Given the description of an element on the screen output the (x, y) to click on. 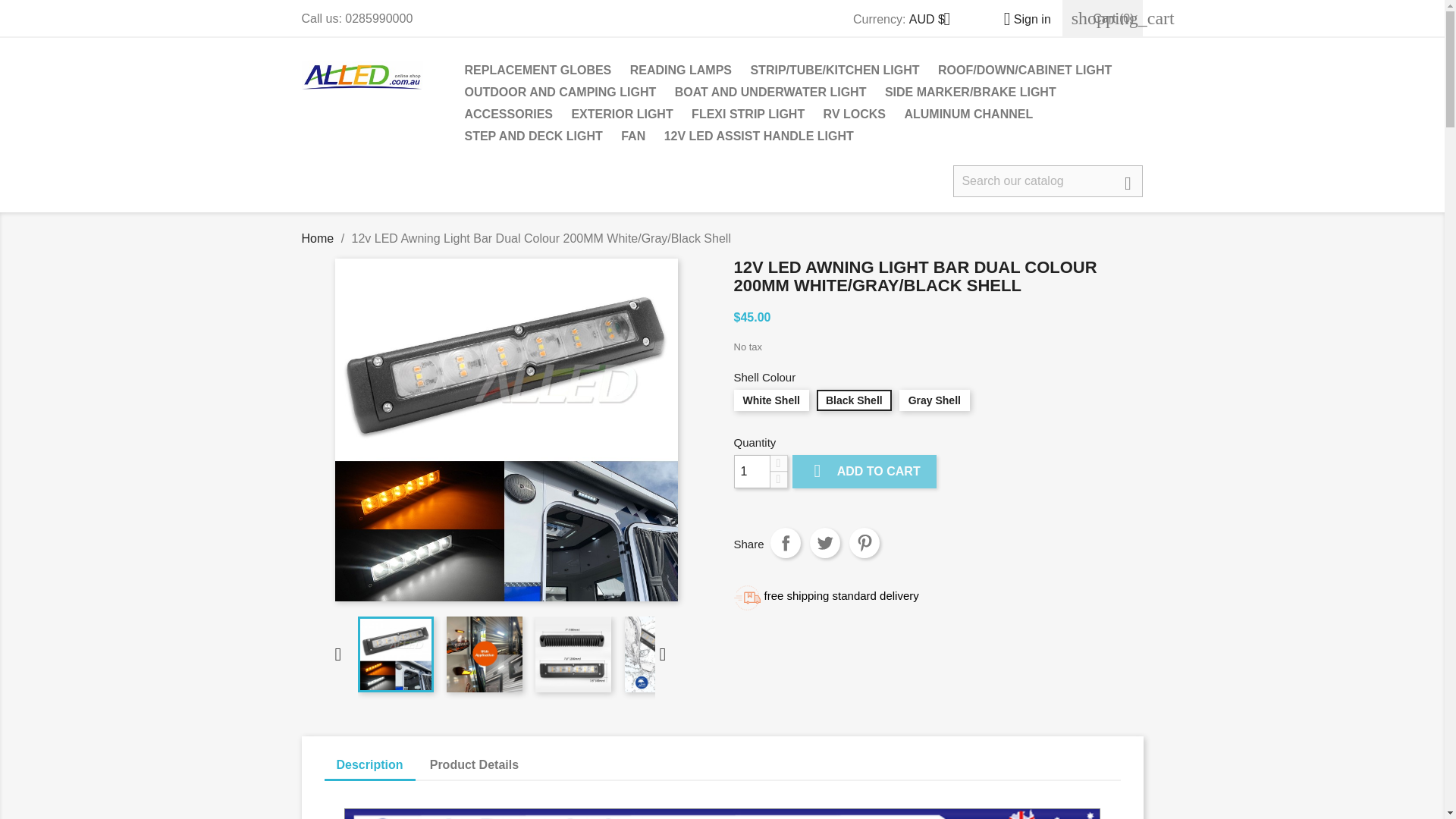
ALUMINUM CHANNEL (968, 115)
Share (785, 542)
Tweet (824, 542)
REPLACEMENT GLOBES (537, 71)
Pinterest (863, 542)
1 (751, 471)
OUTDOOR AND CAMPING LIGHT (560, 93)
FLEXI STRIP LIGHT (748, 115)
Pinterest (863, 542)
Product Details (474, 764)
STEP AND DECK LIGHT (533, 137)
Tweet (824, 542)
Home (317, 237)
12V LED ASSIST HANDLE LIGHT (758, 137)
Description (369, 766)
